Given the description of an element on the screen output the (x, y) to click on. 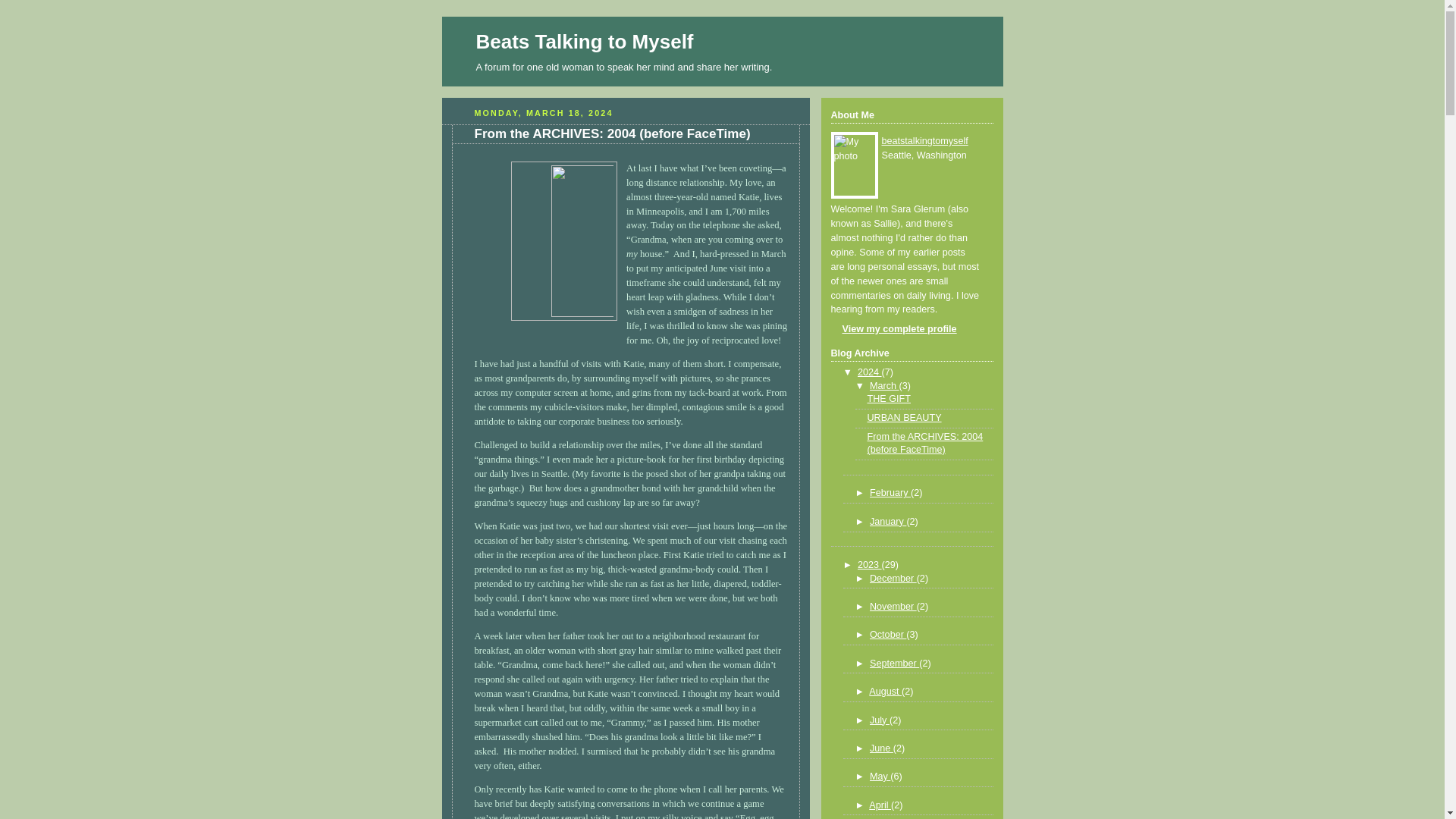
March (884, 385)
URBAN BEAUTY (904, 417)
December (893, 578)
Beats Talking to Myself (585, 41)
View my complete profile (893, 328)
beatstalkingtomyself (924, 140)
2024 (869, 371)
February (890, 492)
November (893, 606)
October (887, 634)
2023 (869, 564)
THE GIFT (889, 398)
January (887, 521)
